Given the description of an element on the screen output the (x, y) to click on. 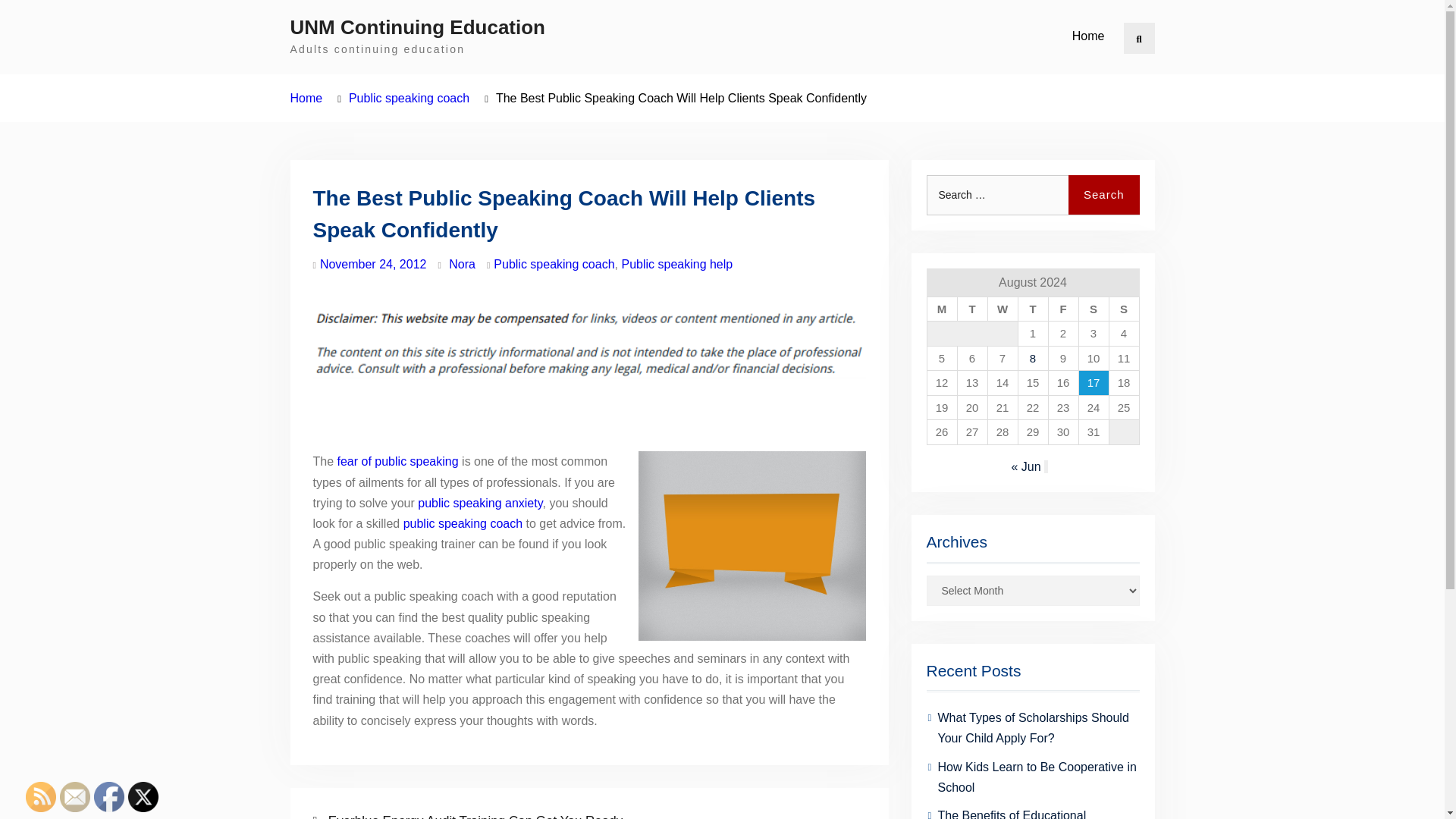
Search (1139, 38)
Public speaking coach (408, 97)
RSS (41, 797)
Home (1088, 35)
November 24, 2012 (373, 264)
Facebook (108, 797)
Home (305, 97)
Follow by Email (74, 797)
Sunday (1123, 308)
